Given the description of an element on the screen output the (x, y) to click on. 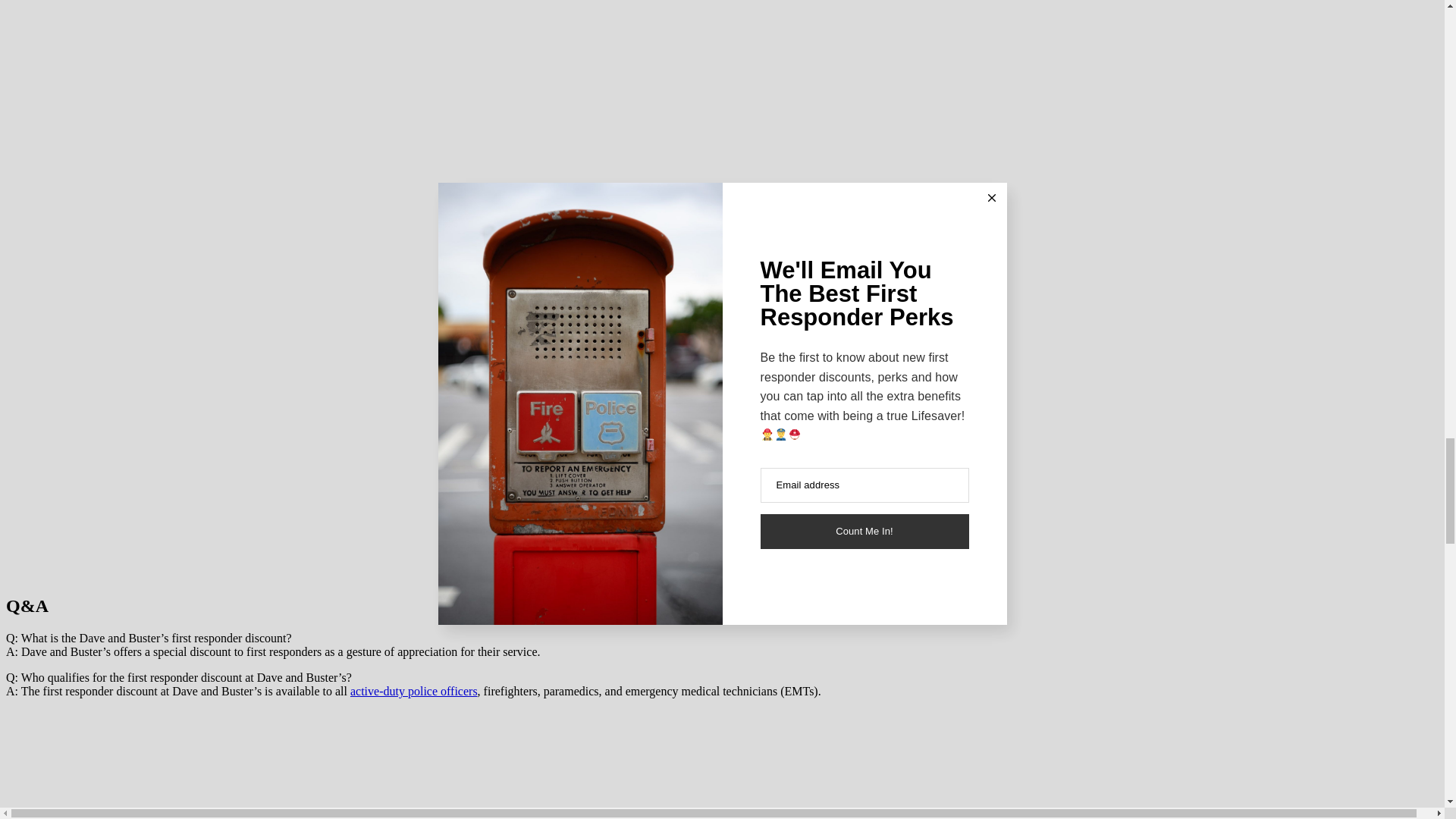
Peloton Membership (413, 690)
